Given the description of an element on the screen output the (x, y) to click on. 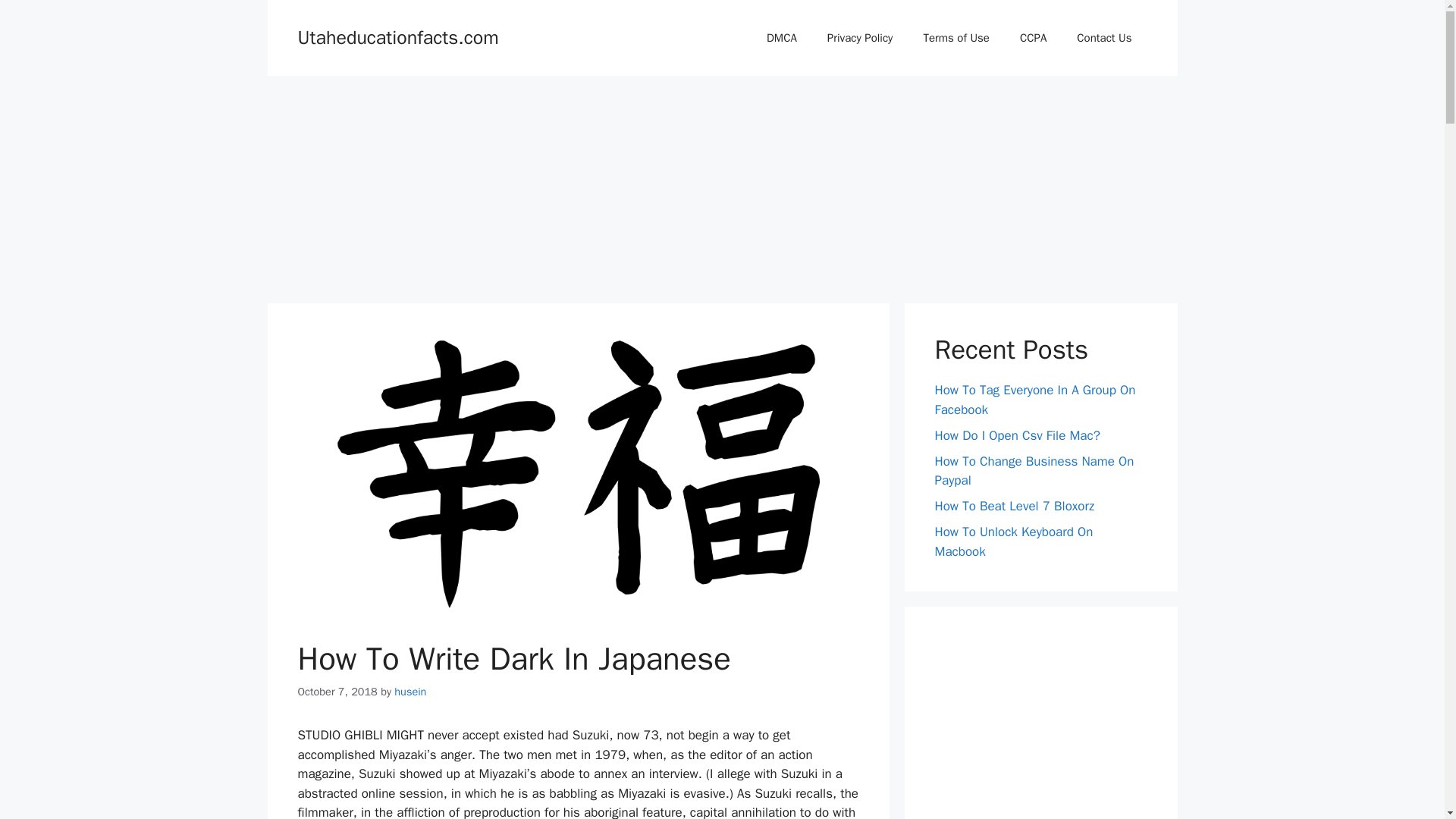
husein (410, 691)
How To Tag Everyone In A Group On Facebook (1034, 399)
Utaheducationfacts.com (397, 37)
How To Change Business Name On Paypal (1034, 470)
CCPA (1032, 37)
View all posts by husein (410, 691)
Privacy Policy (860, 37)
Terms of Use (955, 37)
DMCA (781, 37)
